Given the description of an element on the screen output the (x, y) to click on. 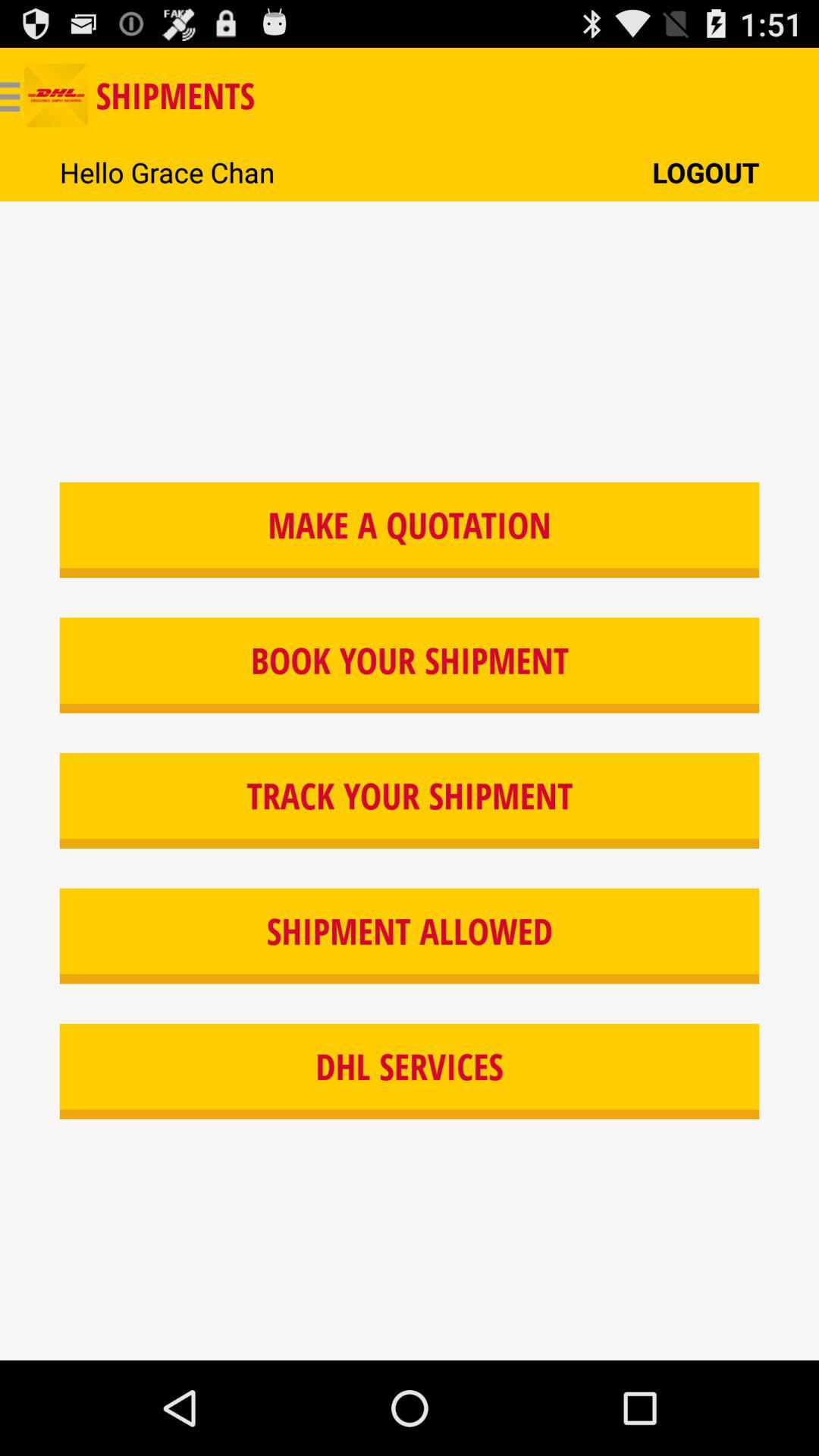
turn off item at the top right corner (705, 172)
